Given the description of an element on the screen output the (x, y) to click on. 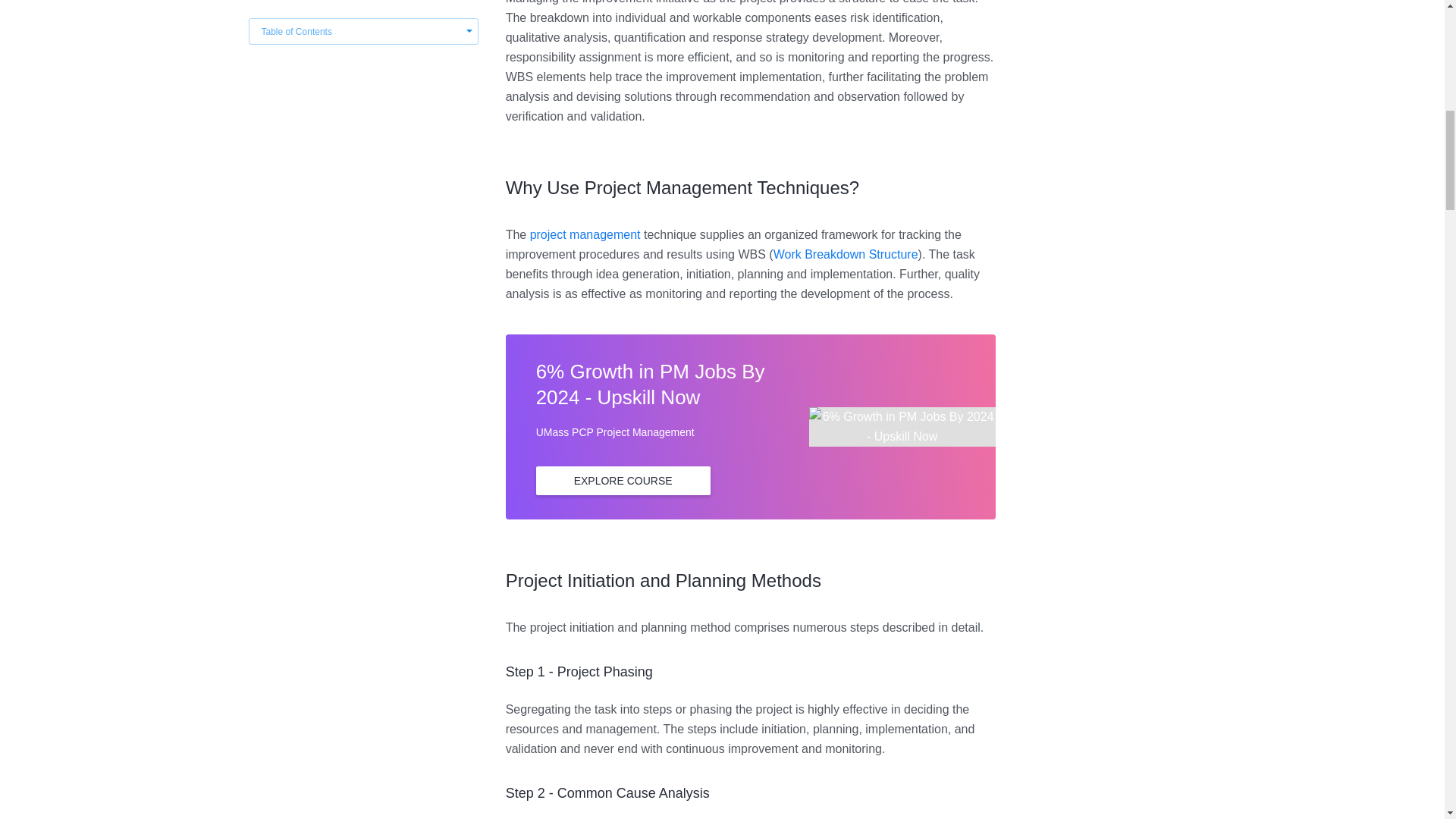
Work Breakdown Structure (845, 254)
project management (584, 234)
